Given the description of an element on the screen output the (x, y) to click on. 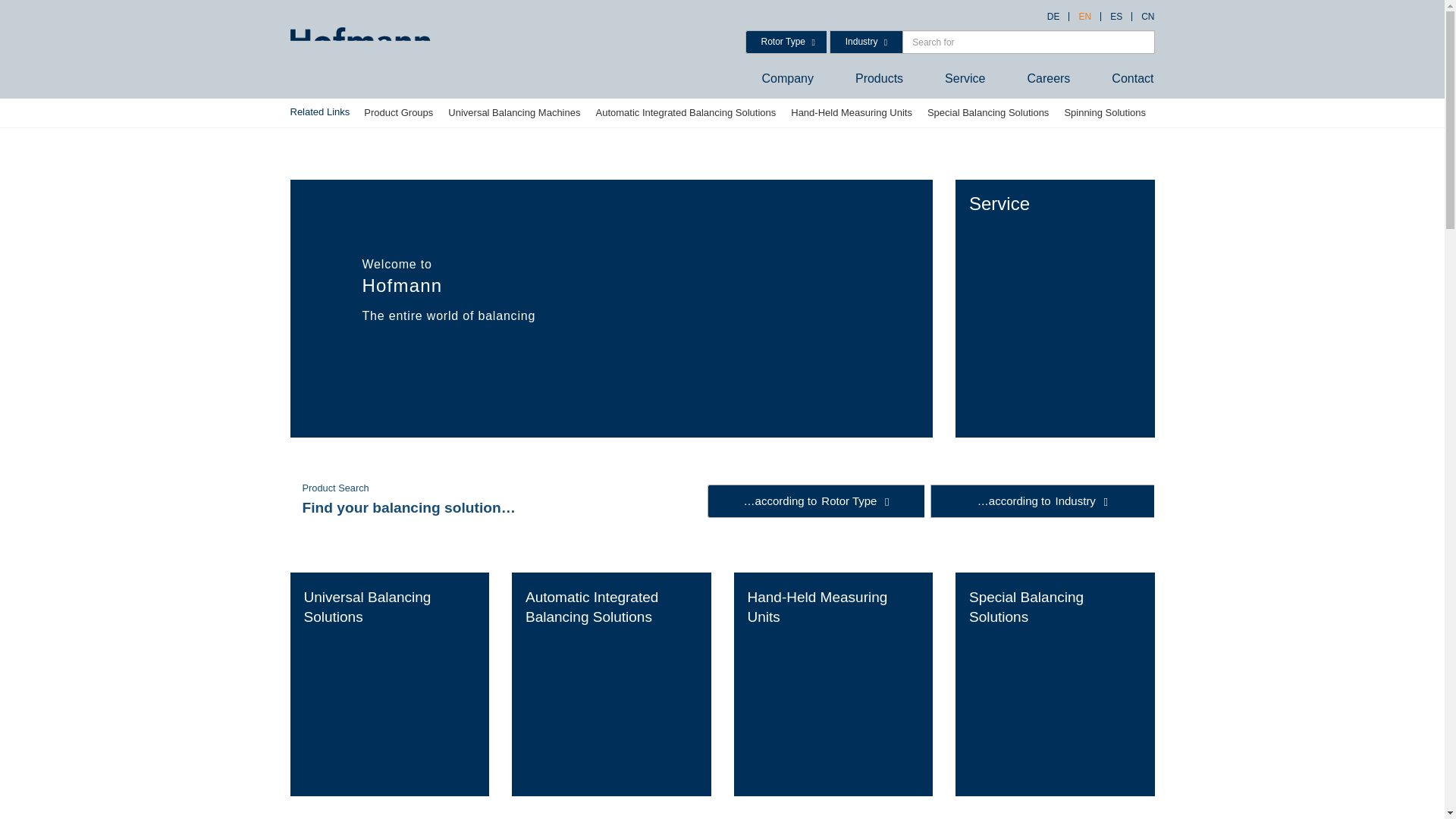
ES (1116, 16)
CN (1143, 16)
Rotor Type (785, 42)
EN (1084, 16)
DE (1054, 16)
